Given the description of an element on the screen output the (x, y) to click on. 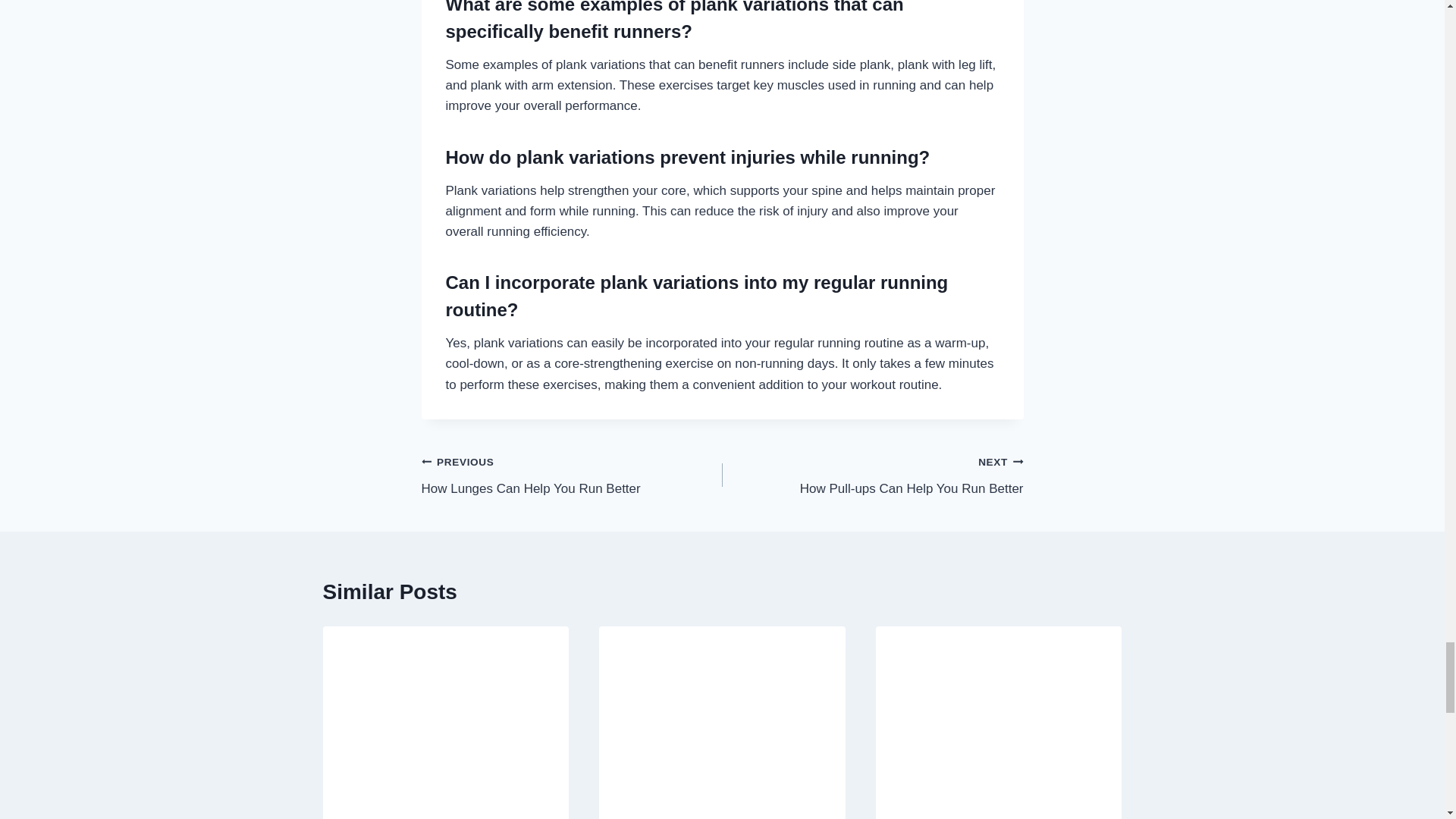
How Bird dogs Can Help You Run Better (572, 474)
How Dynamic stretching Can Help You Run Better (872, 474)
